Given the description of an element on the screen output the (x, y) to click on. 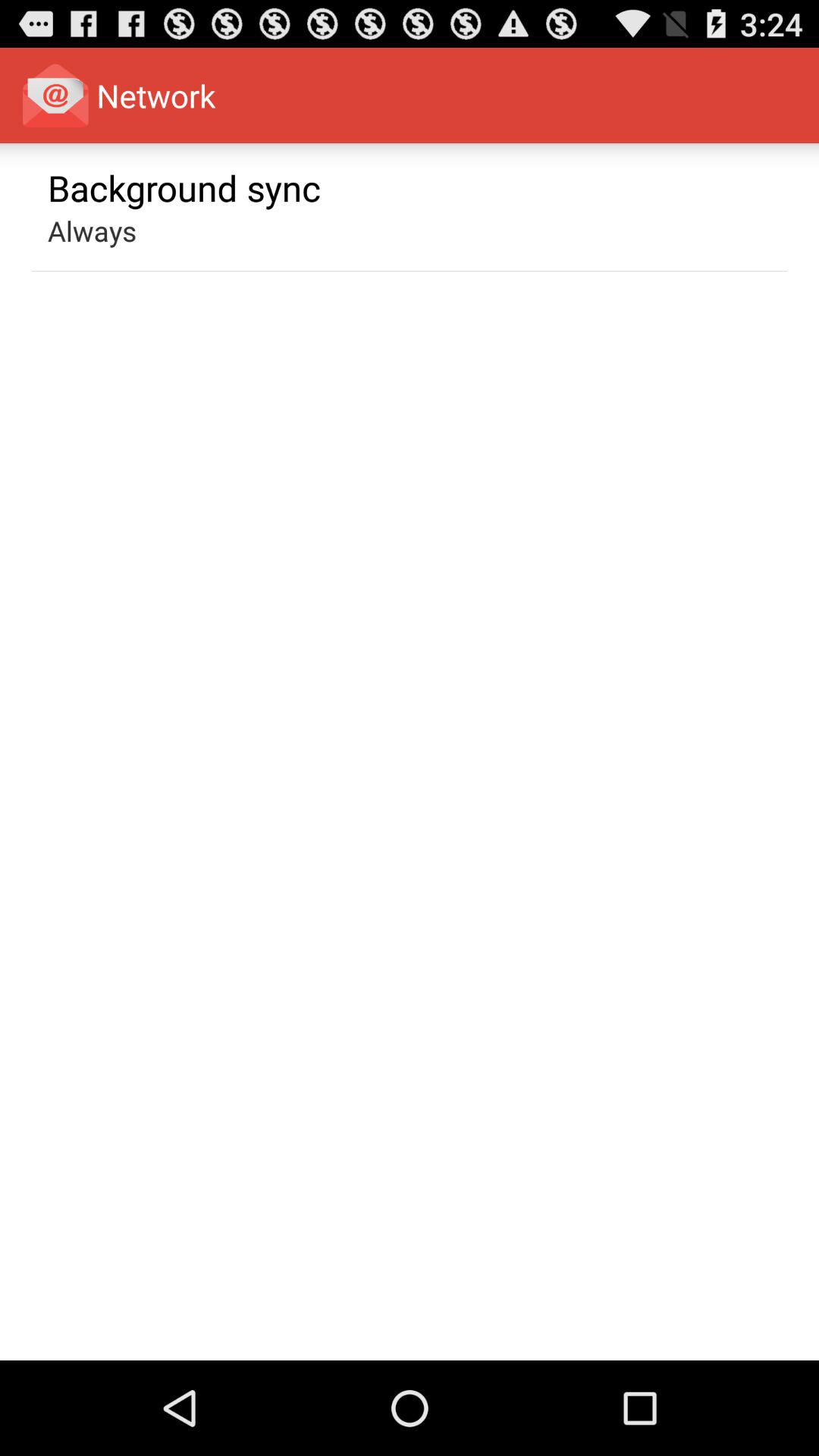
open the background sync app (183, 187)
